Given the description of an element on the screen output the (x, y) to click on. 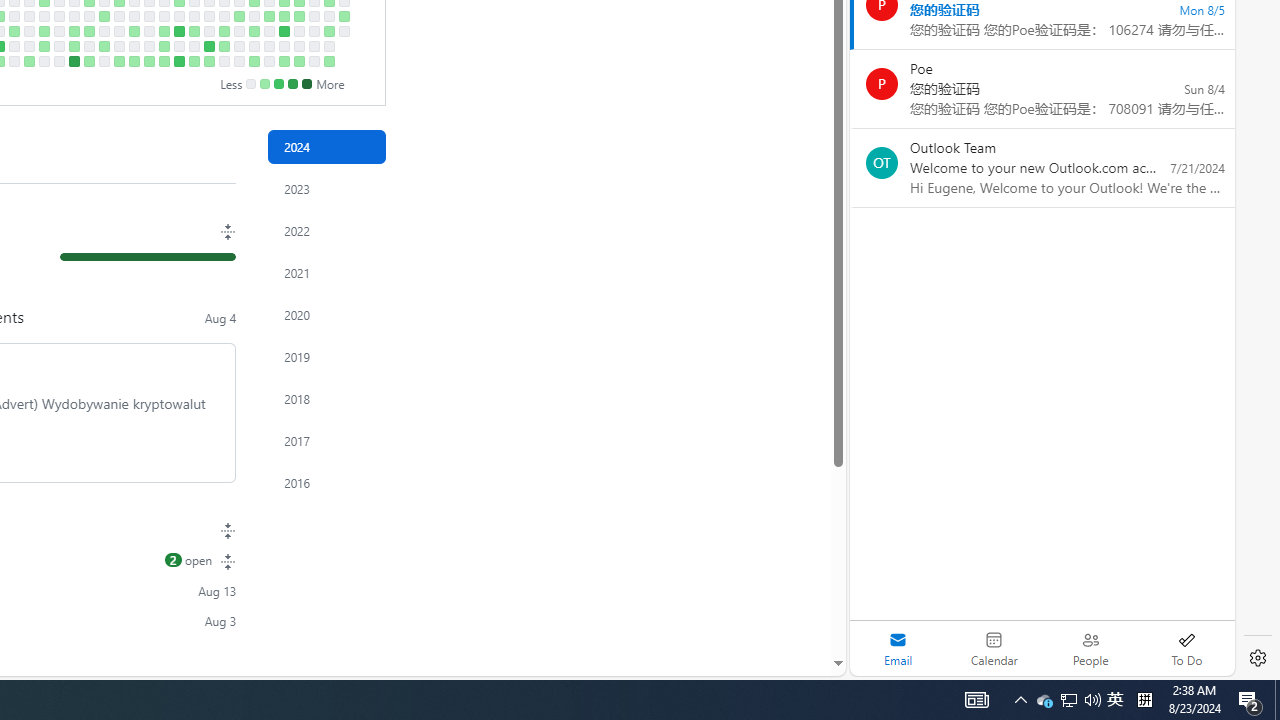
1 contribution on May 3rd. (104, 46)
No contributions on April 17th. (73, 16)
No contributions on August 16th. (328, 46)
Calendar. Date today is 22 (994, 648)
Contribution activity in 2020 (326, 314)
Contribution activity in 2021 (326, 273)
6 contributions on June 21st. (209, 46)
No contributions on March 27th. (28, 16)
2023 (326, 188)
No contributions on May 9th. (118, 30)
No contributions on May 24th. (148, 46)
No contributions on July 12th. (253, 46)
1 contribution on July 31st. (298, 16)
2 contributions on March 21st. (13, 30)
2019 (326, 356)
